Given the description of an element on the screen output the (x, y) to click on. 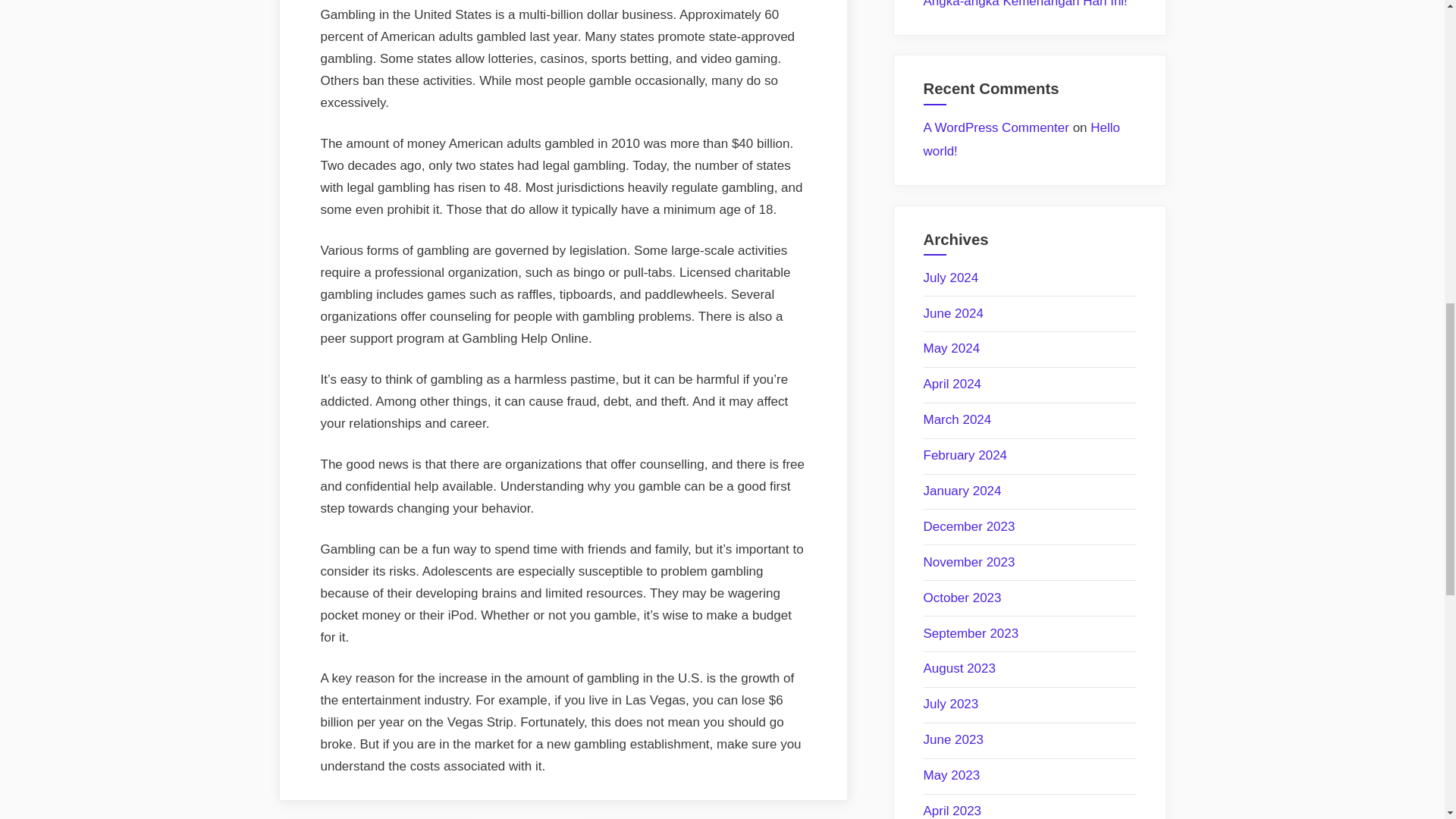
February 2024 (965, 454)
January 2024 (962, 490)
A WordPress Commenter (995, 127)
June 2024 (953, 313)
July 2024 (950, 278)
March 2024 (957, 419)
December 2023 (968, 526)
August 2023 (959, 667)
May 2024 (951, 348)
November 2023 (968, 562)
September 2023 (971, 633)
Hello world! (1022, 139)
October 2023 (962, 597)
April 2024 (952, 383)
